Given the description of an element on the screen output the (x, y) to click on. 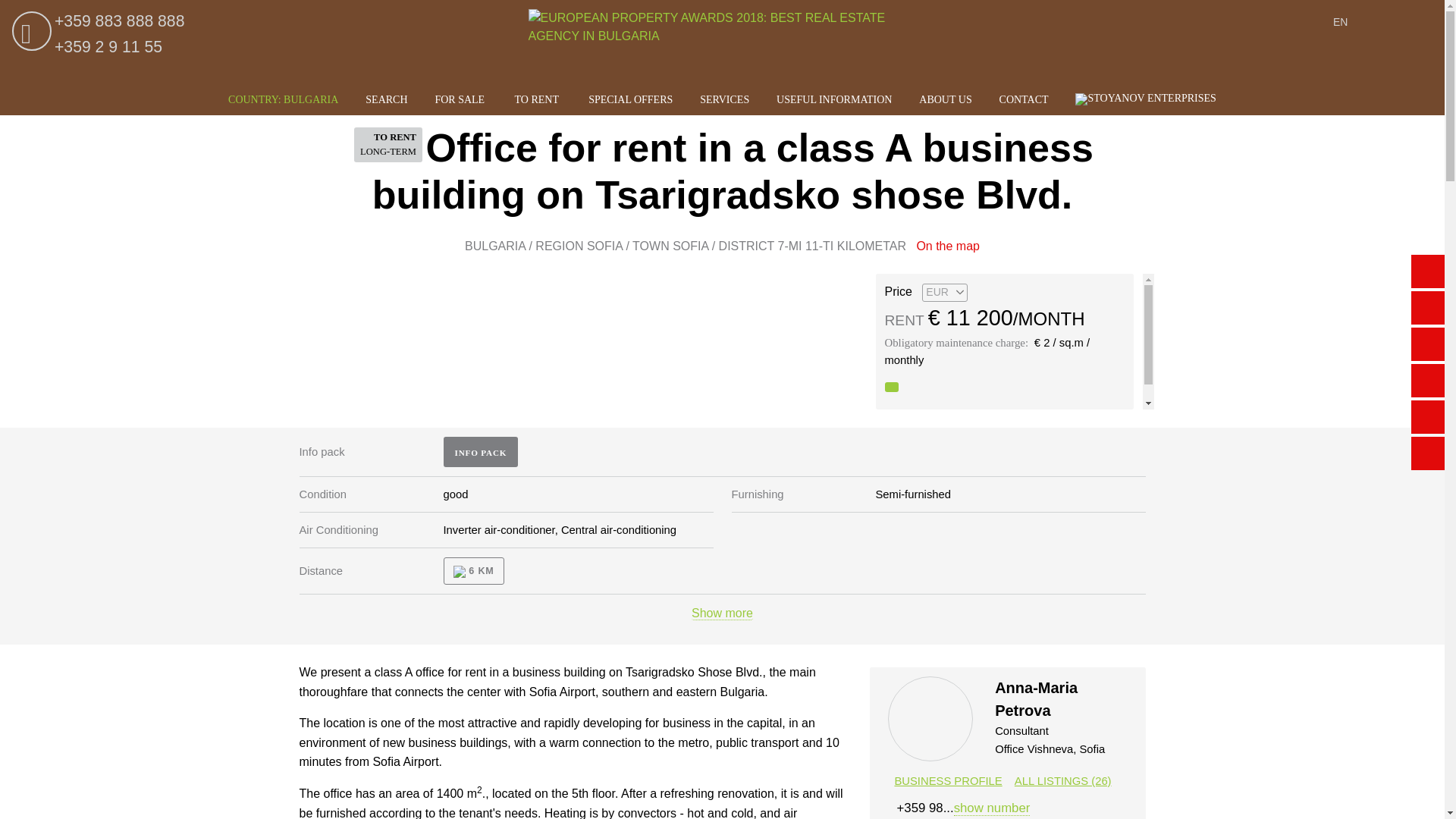
Anna-Maria Petrova (931, 721)
